Given the description of an element on the screen output the (x, y) to click on. 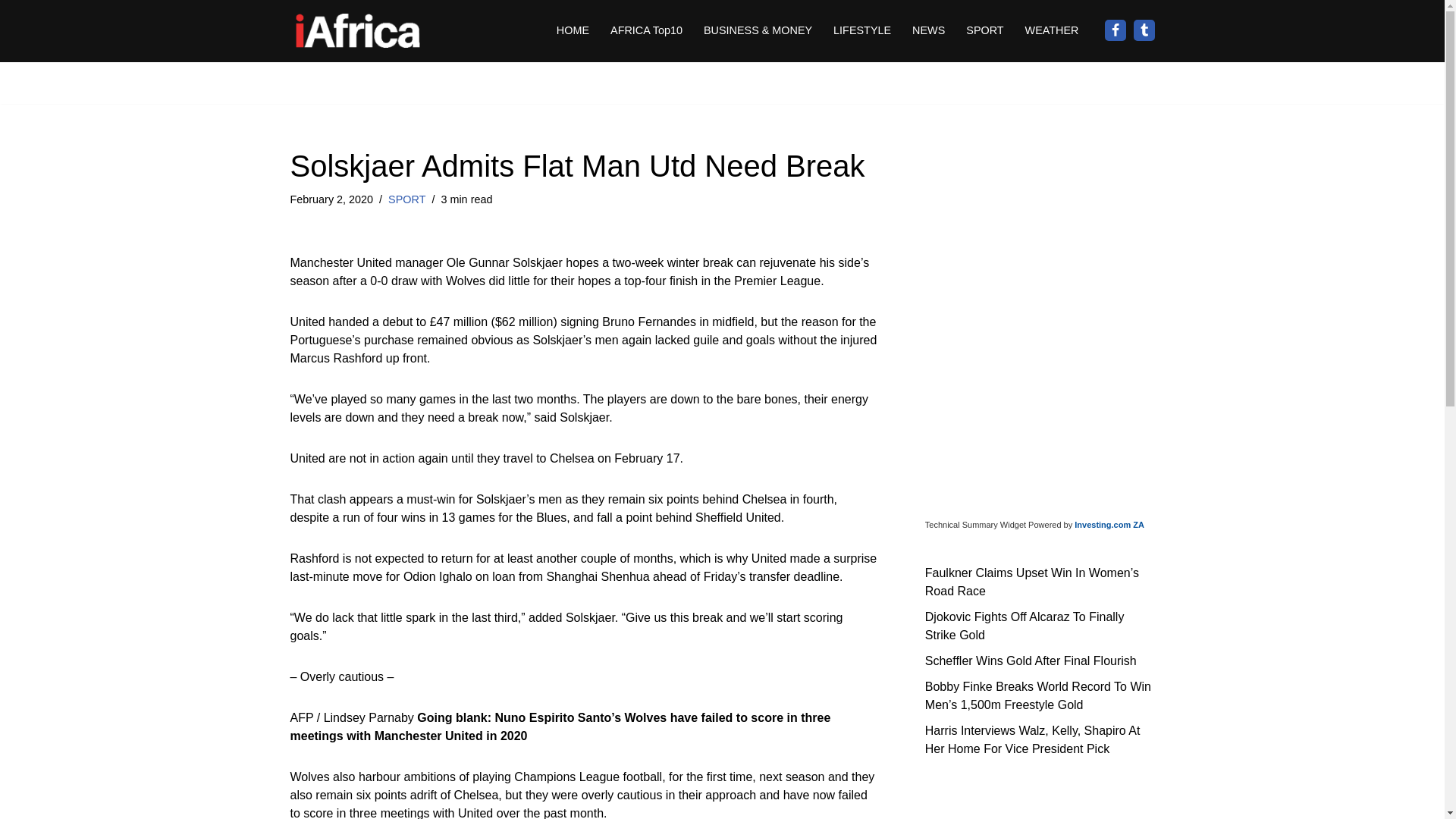
SPORT (984, 30)
Djokovic Fights Off Alcaraz To Finally Strike Gold (1024, 624)
HOME (572, 30)
Investing.com ZA (1109, 524)
Twitter (1143, 29)
Skip to content (11, 31)
SPORT (406, 198)
LIFESTYLE (861, 30)
NEWS (928, 30)
Scheffler Wins Gold After Final Flourish (1030, 659)
AFRICA Top10 (646, 30)
Facebook (1114, 29)
WEATHER (1051, 30)
